Given the description of an element on the screen output the (x, y) to click on. 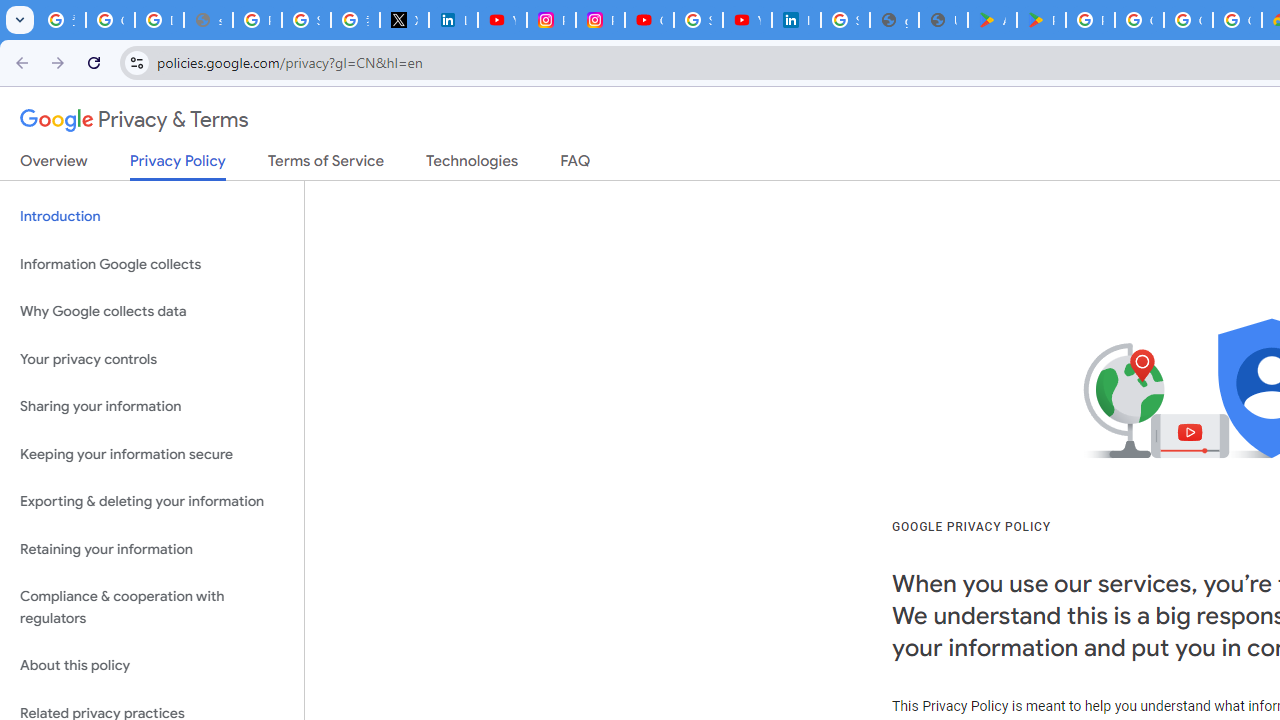
Sign in - Google Accounts (698, 20)
